Given the description of an element on the screen output the (x, y) to click on. 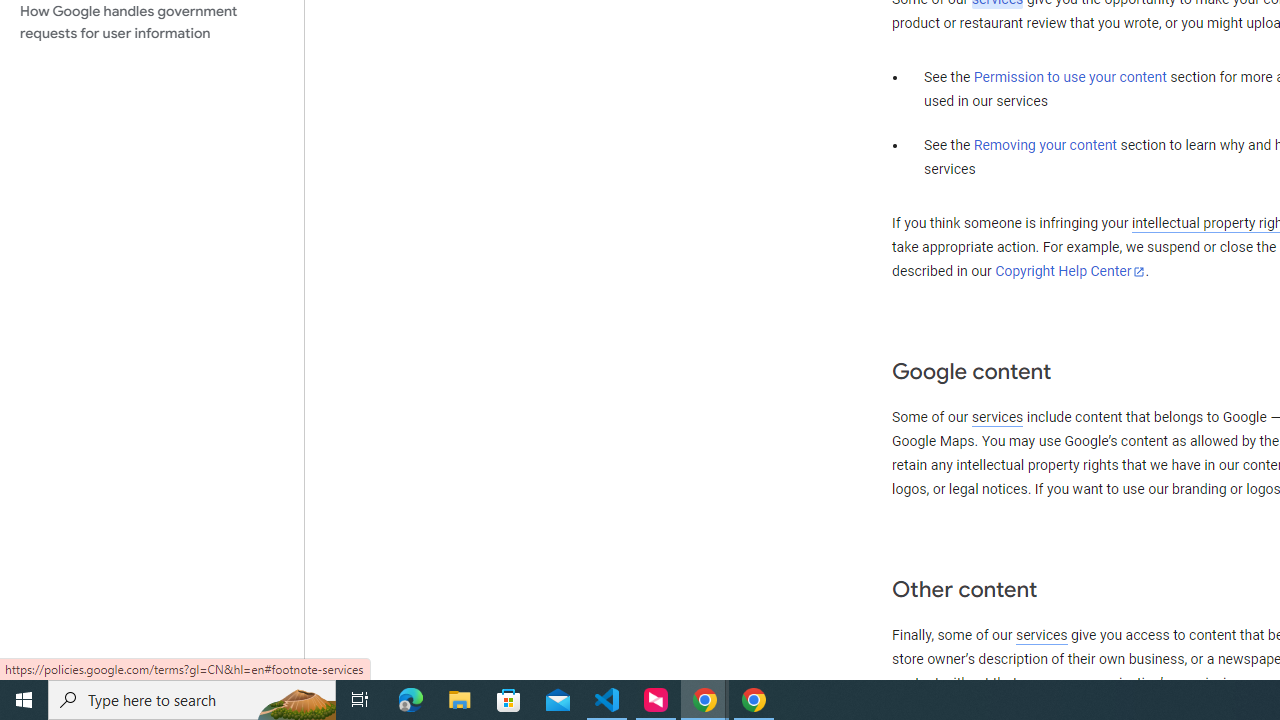
Permission to use your content (1069, 78)
Removing your content (1044, 145)
Copyright Help Center (1069, 271)
services (1041, 635)
